Given the description of an element on the screen output the (x, y) to click on. 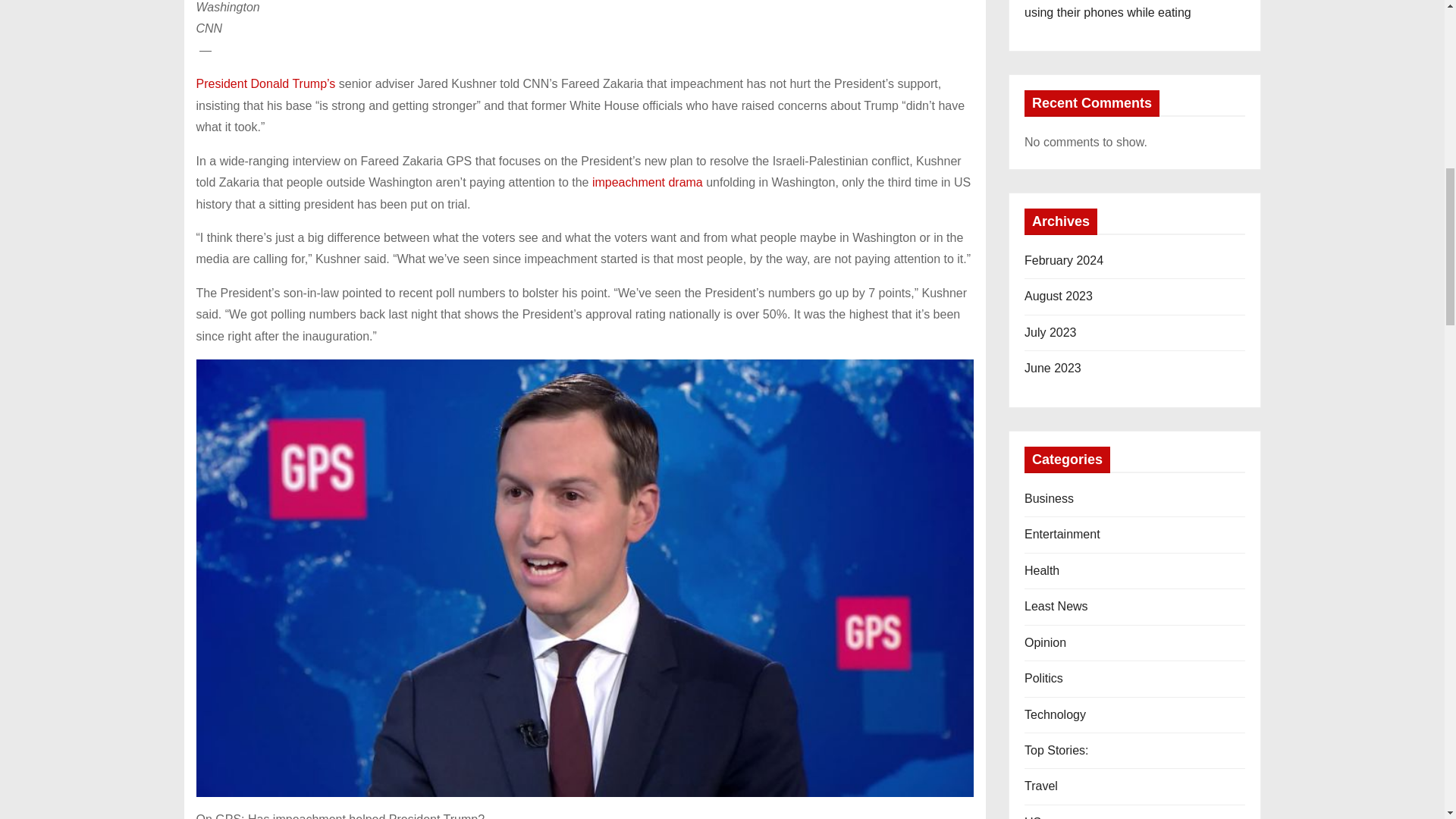
impeachment drama (647, 182)
